Given the description of an element on the screen output the (x, y) to click on. 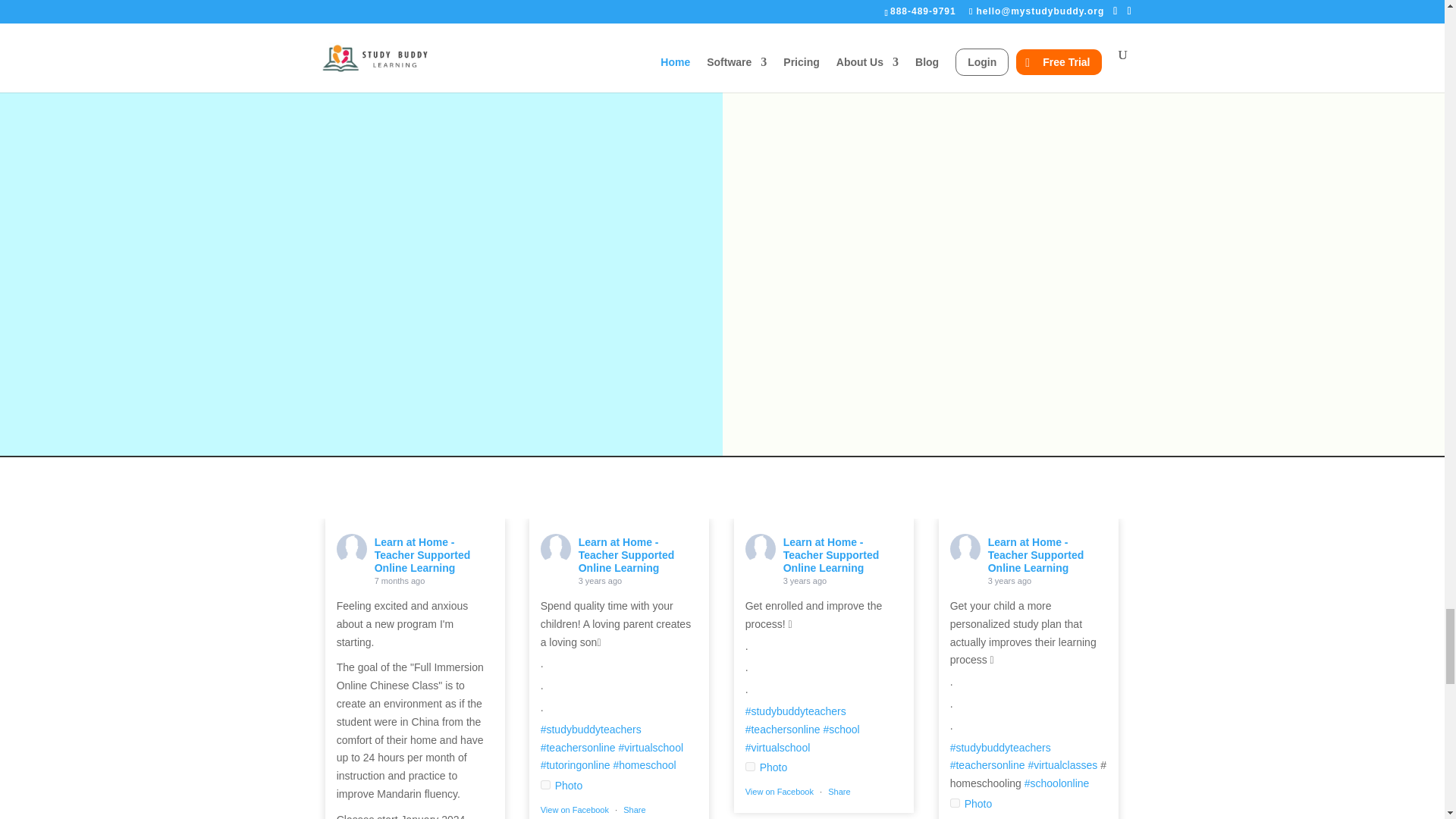
View on Facebook (779, 791)
Share (634, 809)
View on Facebook (574, 809)
Share (839, 791)
